Given the description of an element on the screen output the (x, y) to click on. 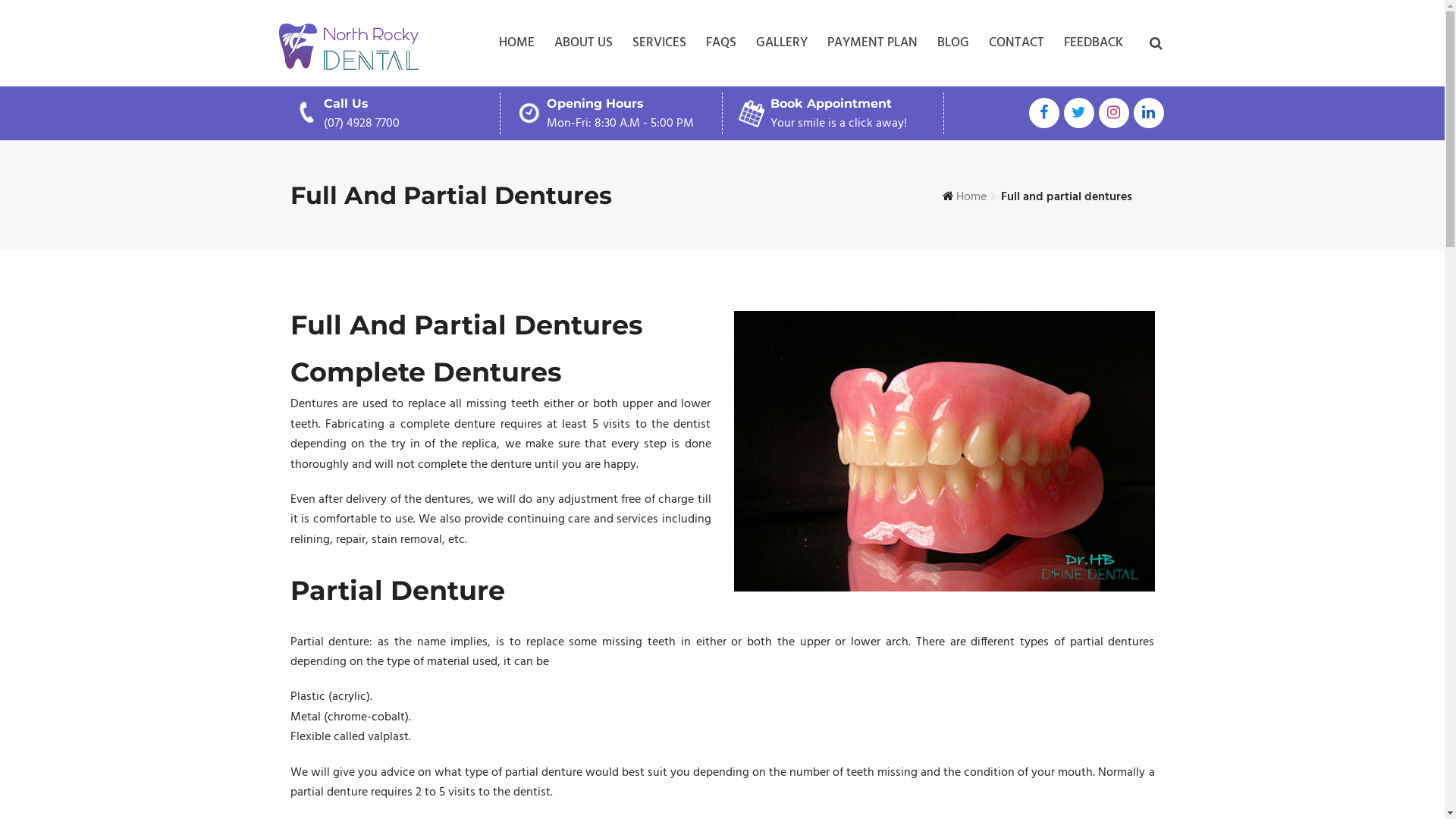
Book Appointment Element type: text (830, 103)
Instagram Element type: hover (1113, 112)
GALLERY Element type: text (780, 42)
Facebook Element type: hover (1043, 112)
SERVICES Element type: text (659, 42)
PAYMENT PLAN Element type: text (871, 42)
Linkedin Element type: hover (1147, 112)
Twitter Element type: hover (1078, 112)
denture-600x400 Element type: hover (944, 450)
FEEDBACK Element type: text (1092, 42)
ABOUT US Element type: text (582, 42)
FAQS Element type: text (720, 42)
Home Element type: text (970, 197)
CONTACT Element type: text (1016, 42)
BLOG Element type: text (953, 42)
HOME Element type: text (516, 42)
